Given the description of an element on the screen output the (x, y) to click on. 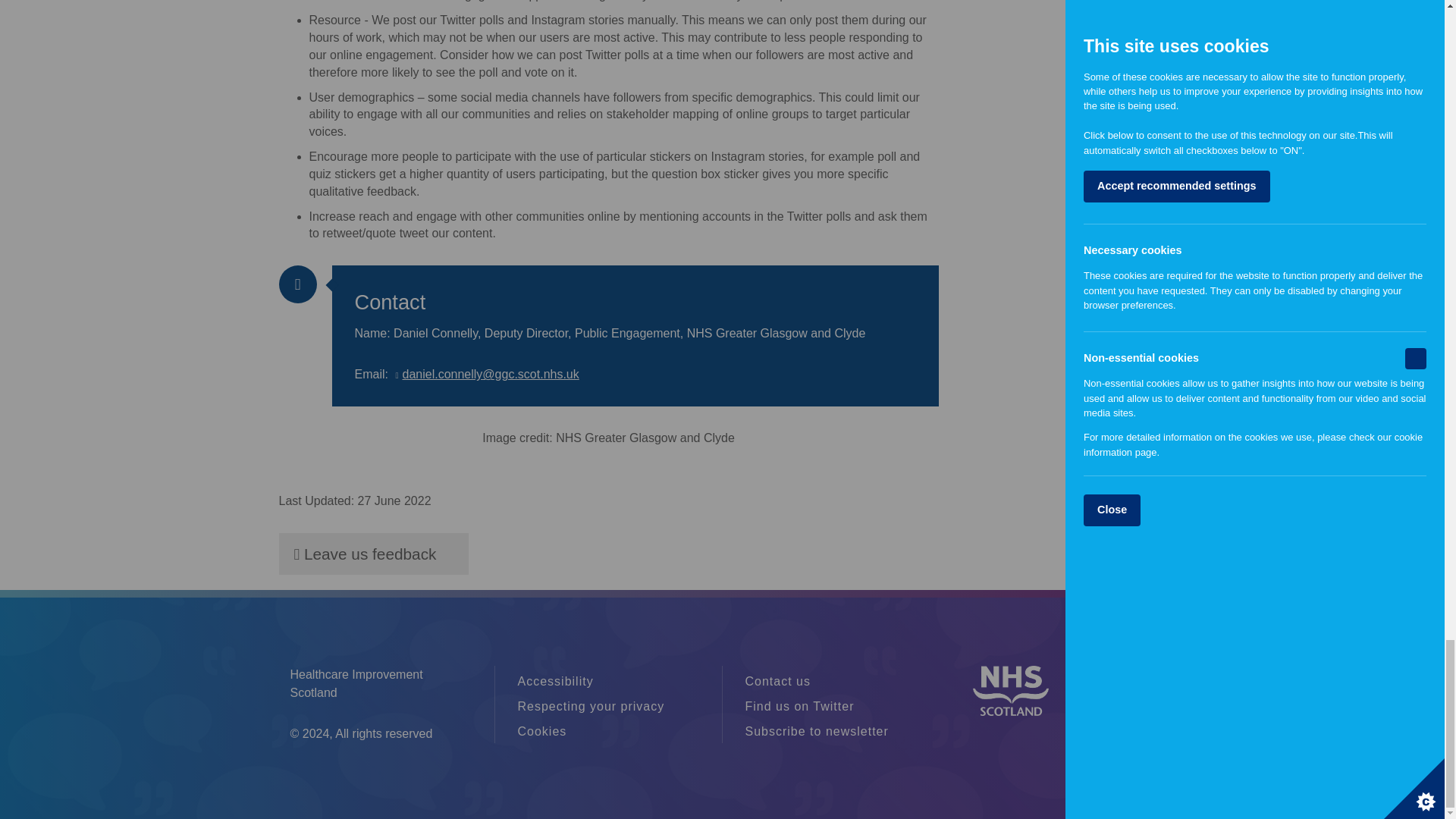
Link opens in a new window (484, 373)
